Given the description of an element on the screen output the (x, y) to click on. 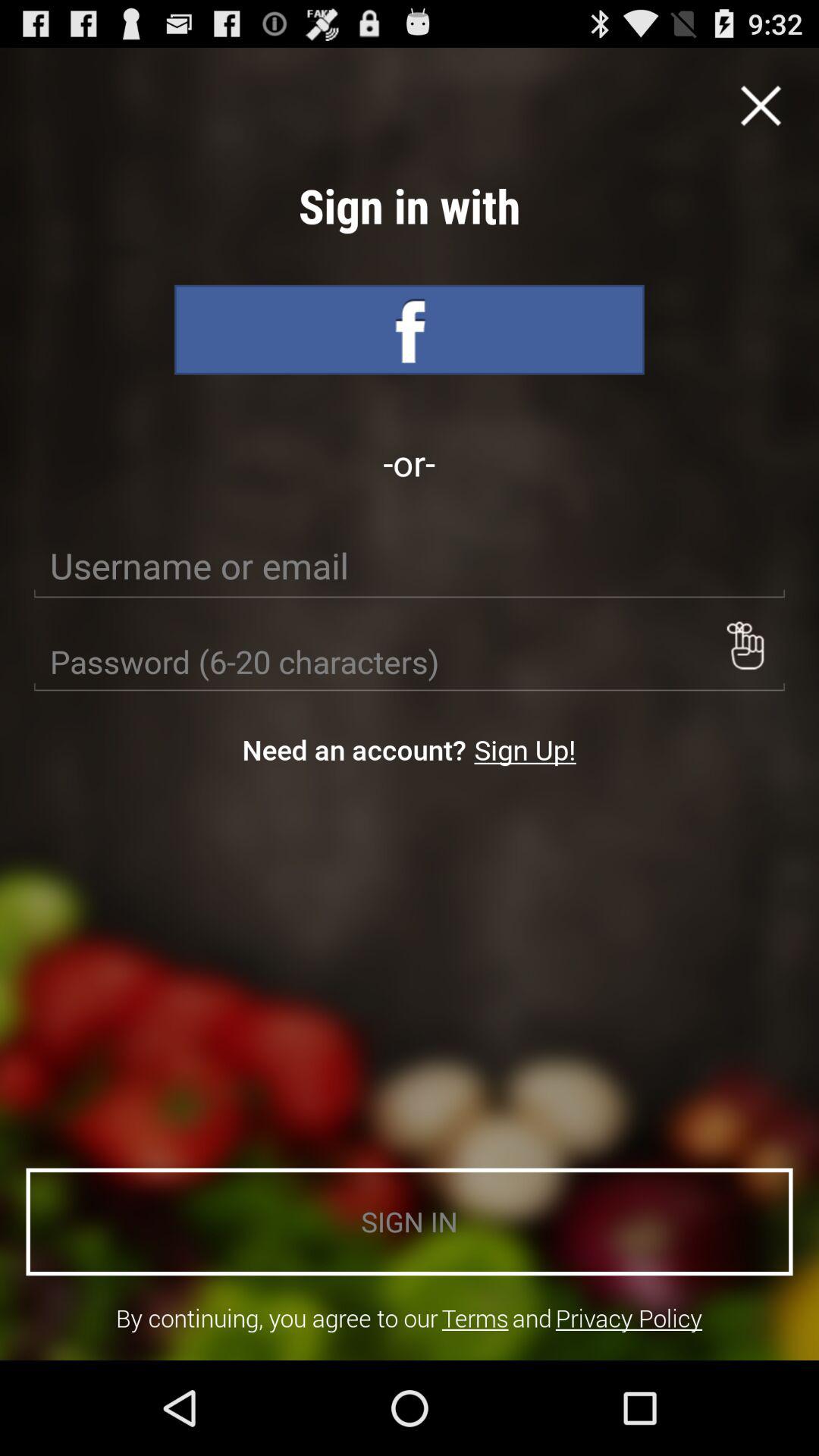
show keypad for password (744, 645)
